Given the description of an element on the screen output the (x, y) to click on. 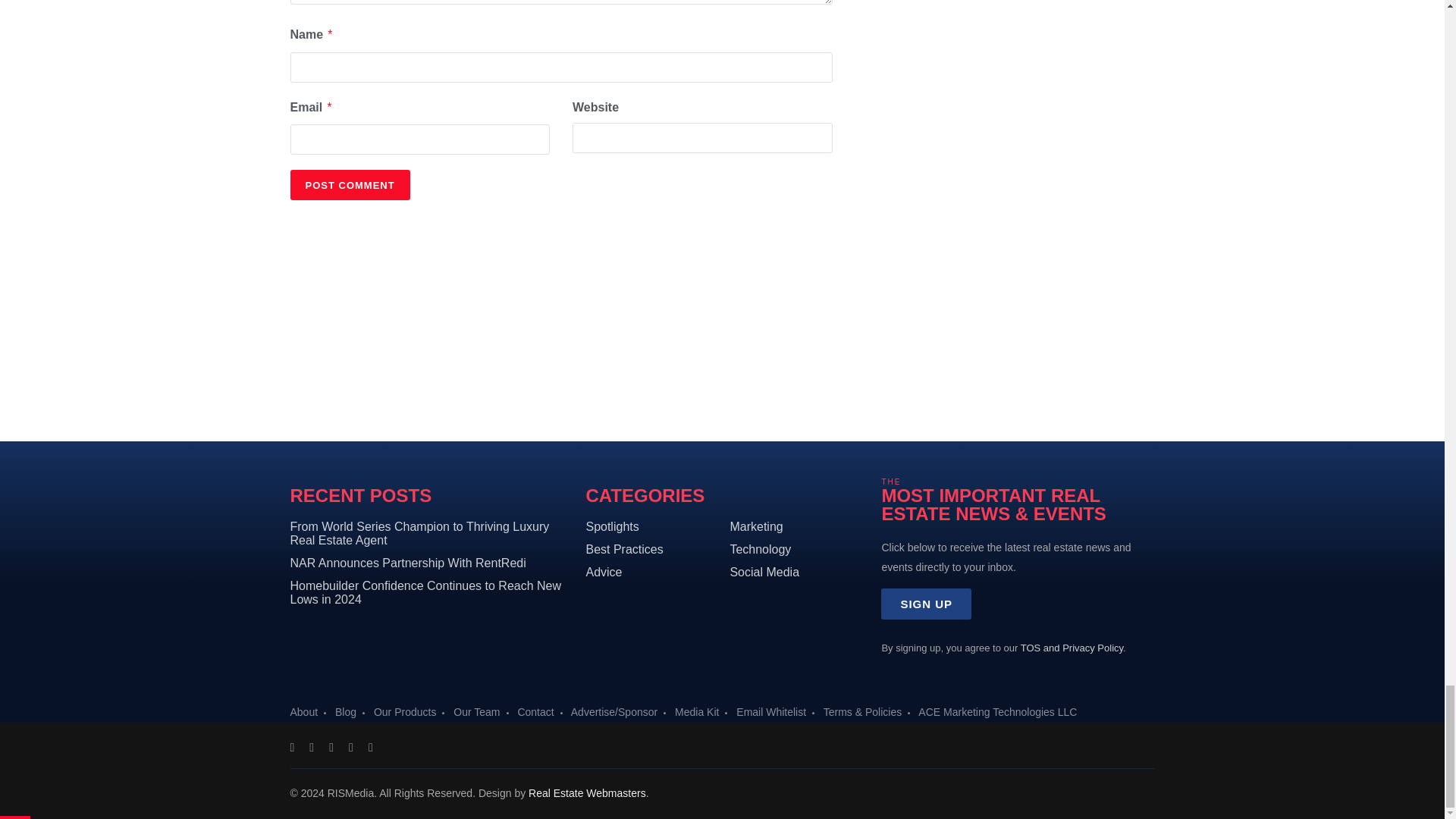
3rd party ad content (722, 346)
Post Comment (349, 184)
